Given the description of an element on the screen output the (x, y) to click on. 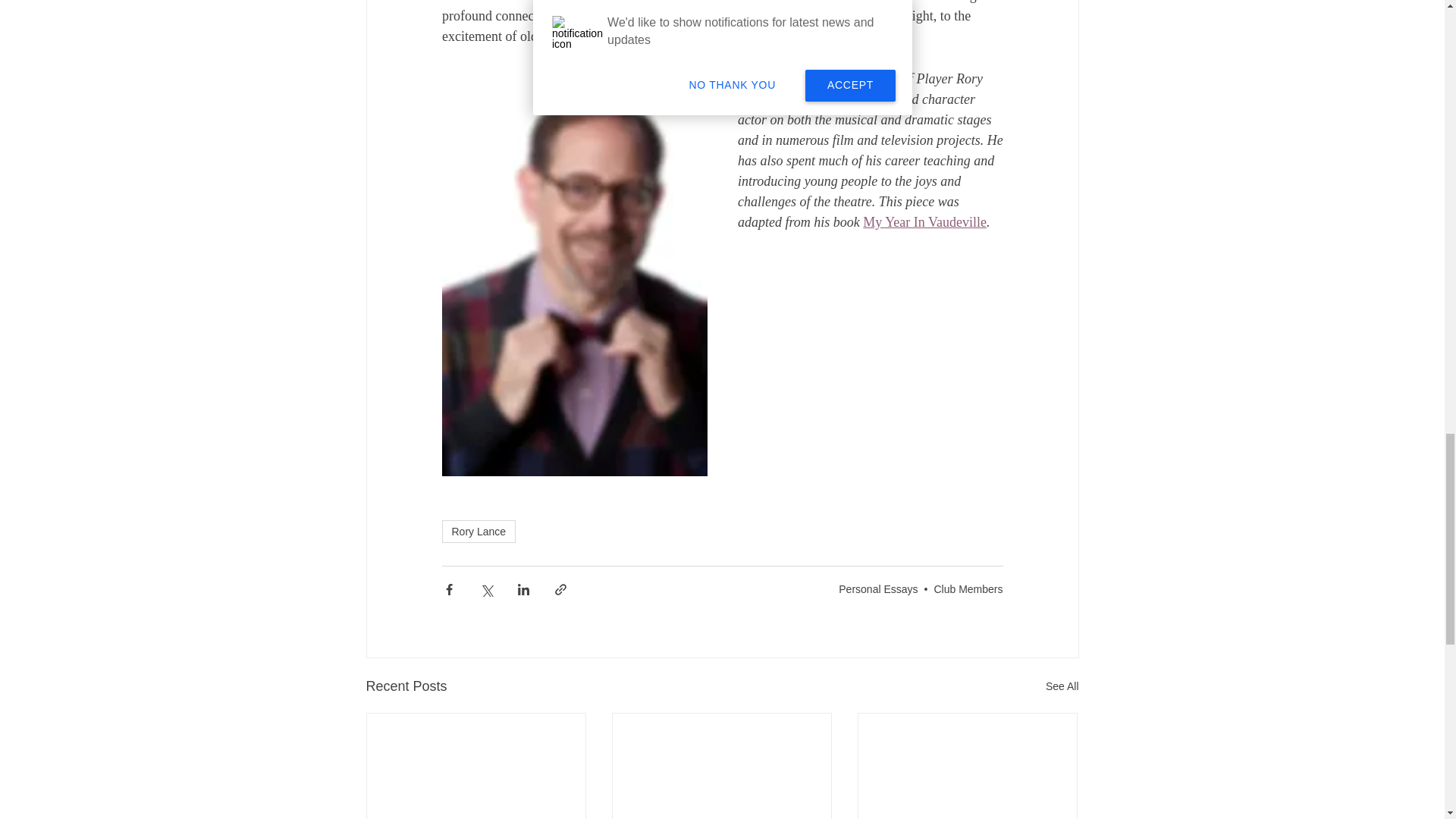
Club Members (968, 588)
My Year In Vaudeville (925, 222)
See All (1061, 686)
Personal Essays (877, 588)
Rory Lance (478, 531)
